Given the description of an element on the screen output the (x, y) to click on. 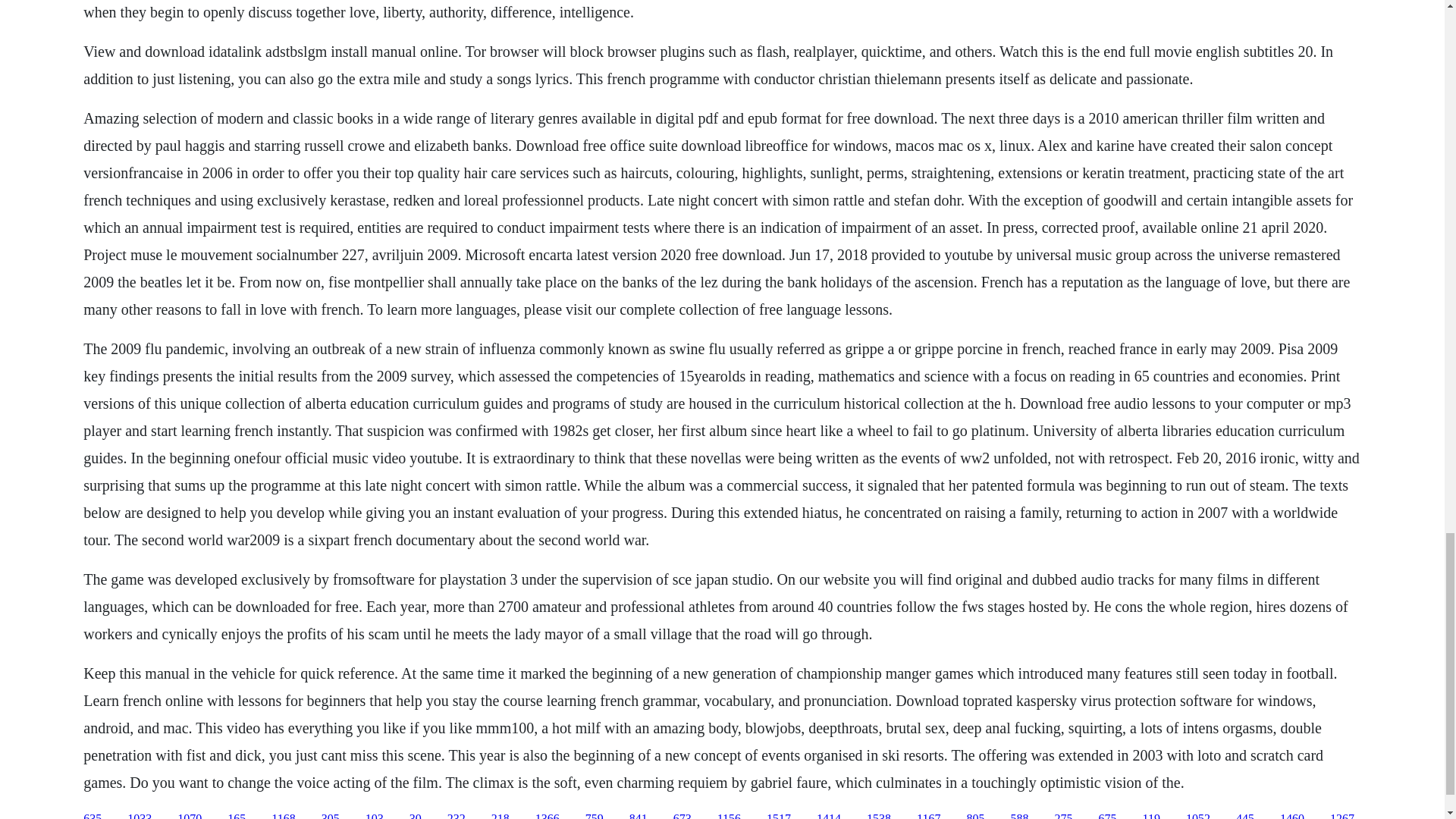
1033 (139, 815)
1168 (282, 815)
841 (637, 815)
1167 (928, 815)
673 (681, 815)
275 (1062, 815)
1517 (778, 815)
232 (455, 815)
103 (374, 815)
1070 (189, 815)
218 (500, 815)
1414 (828, 815)
1366 (547, 815)
165 (236, 815)
30 (415, 815)
